Given the description of an element on the screen output the (x, y) to click on. 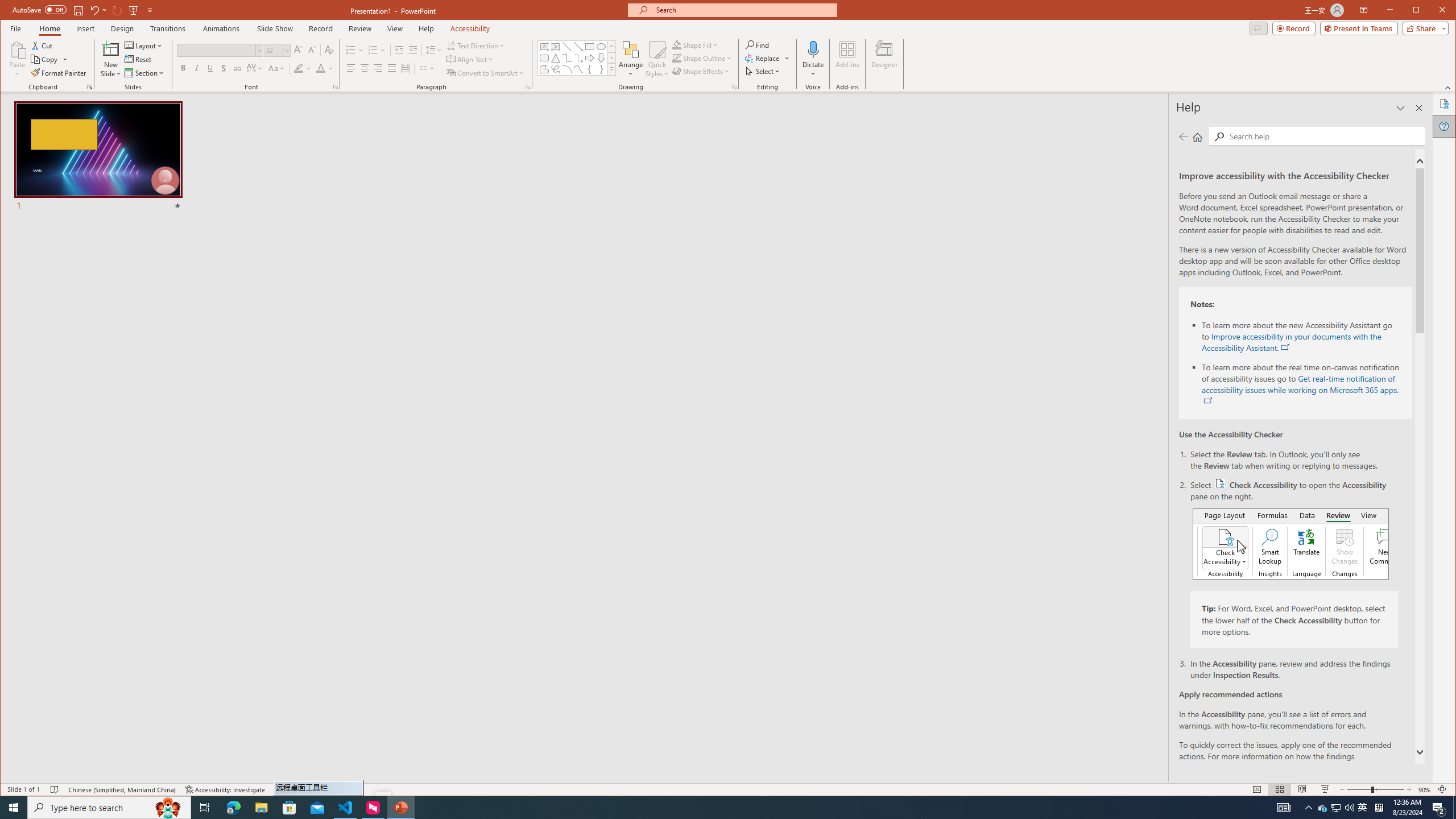
Font... (335, 86)
Reset (138, 59)
Connector: Elbow (567, 57)
Text Box (544, 46)
Shape Fill (695, 44)
Line (1335, 807)
Strikethrough (567, 46)
Find... (237, 68)
Paragraph... (758, 44)
